Given the description of an element on the screen output the (x, y) to click on. 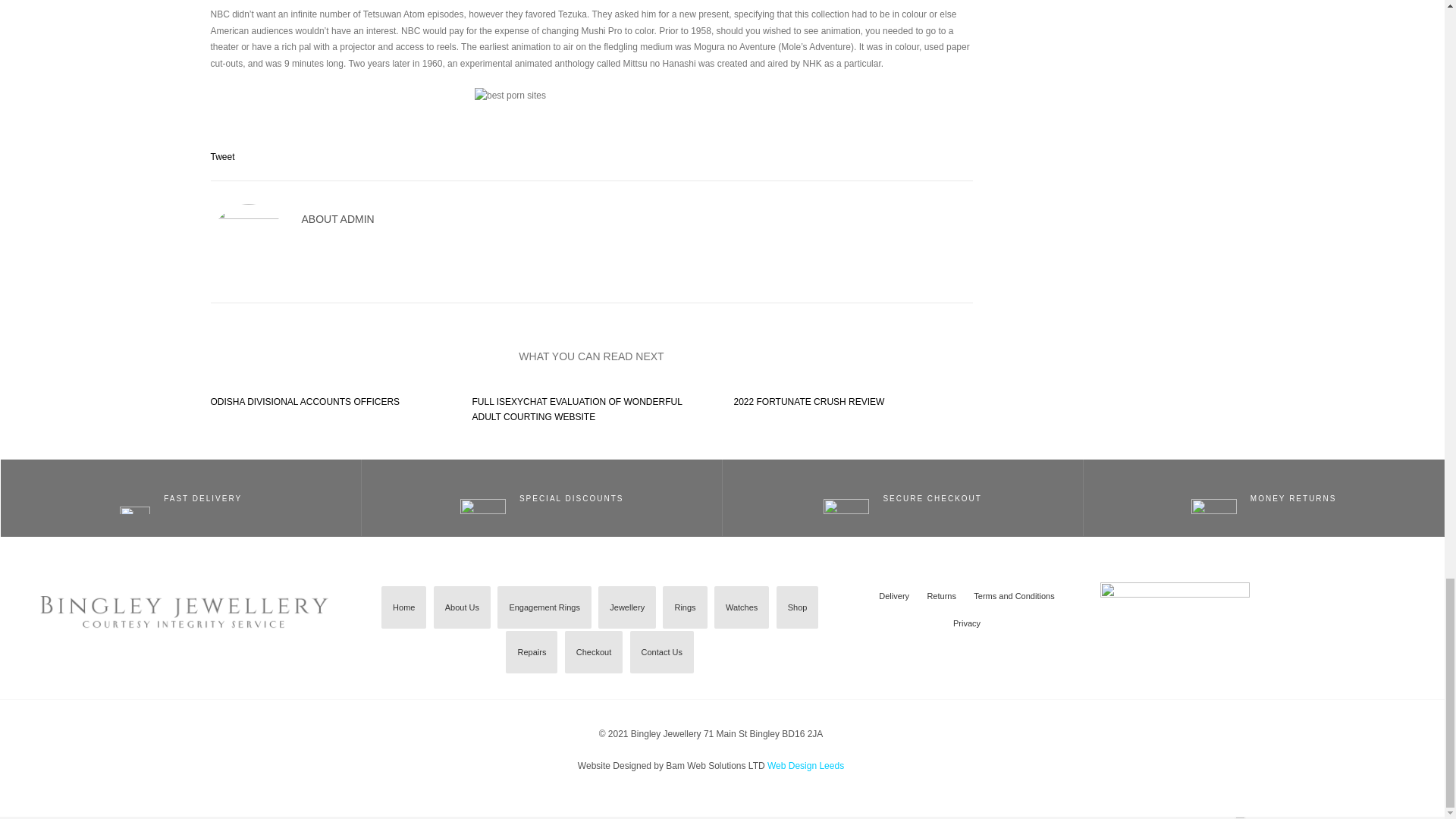
money-returns.png (1213, 498)
plane.png (134, 499)
warranty.png (482, 498)
secure-payment.png (846, 498)
Delivery Returns Terms and Conditions Privacy (967, 609)
Tweet (222, 156)
